Given the description of an element on the screen output the (x, y) to click on. 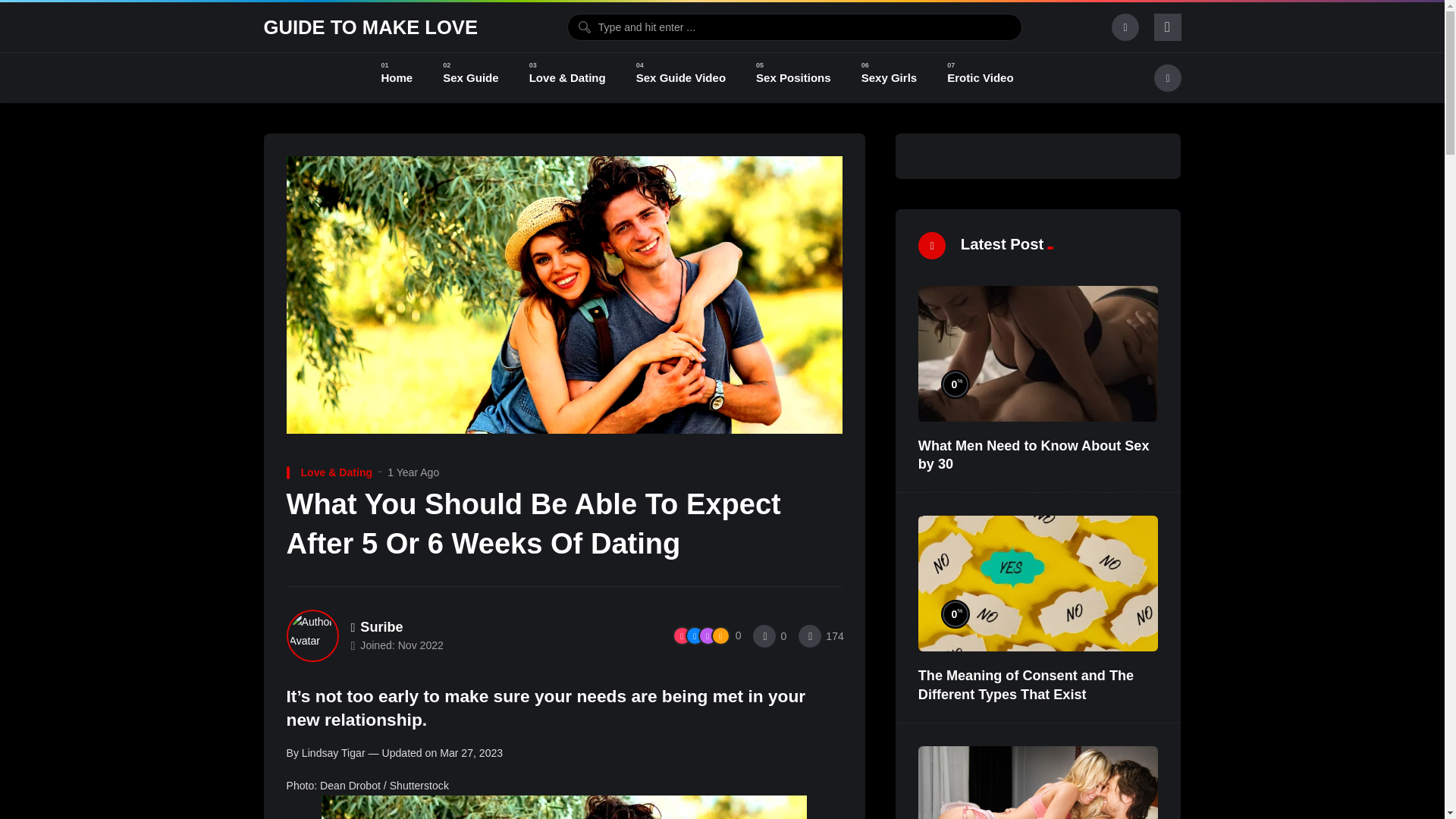
Sexy Girls (889, 78)
Suribe (312, 635)
Suribe (376, 626)
Suribe (376, 626)
Sex Guide (470, 78)
Sex Positions (793, 78)
GUIDE TO MAKE LOVE (371, 27)
Guide to Make Love (371, 27)
Erotic Video (980, 78)
0 (769, 635)
Sex Guide Video (680, 78)
